Given the description of an element on the screen output the (x, y) to click on. 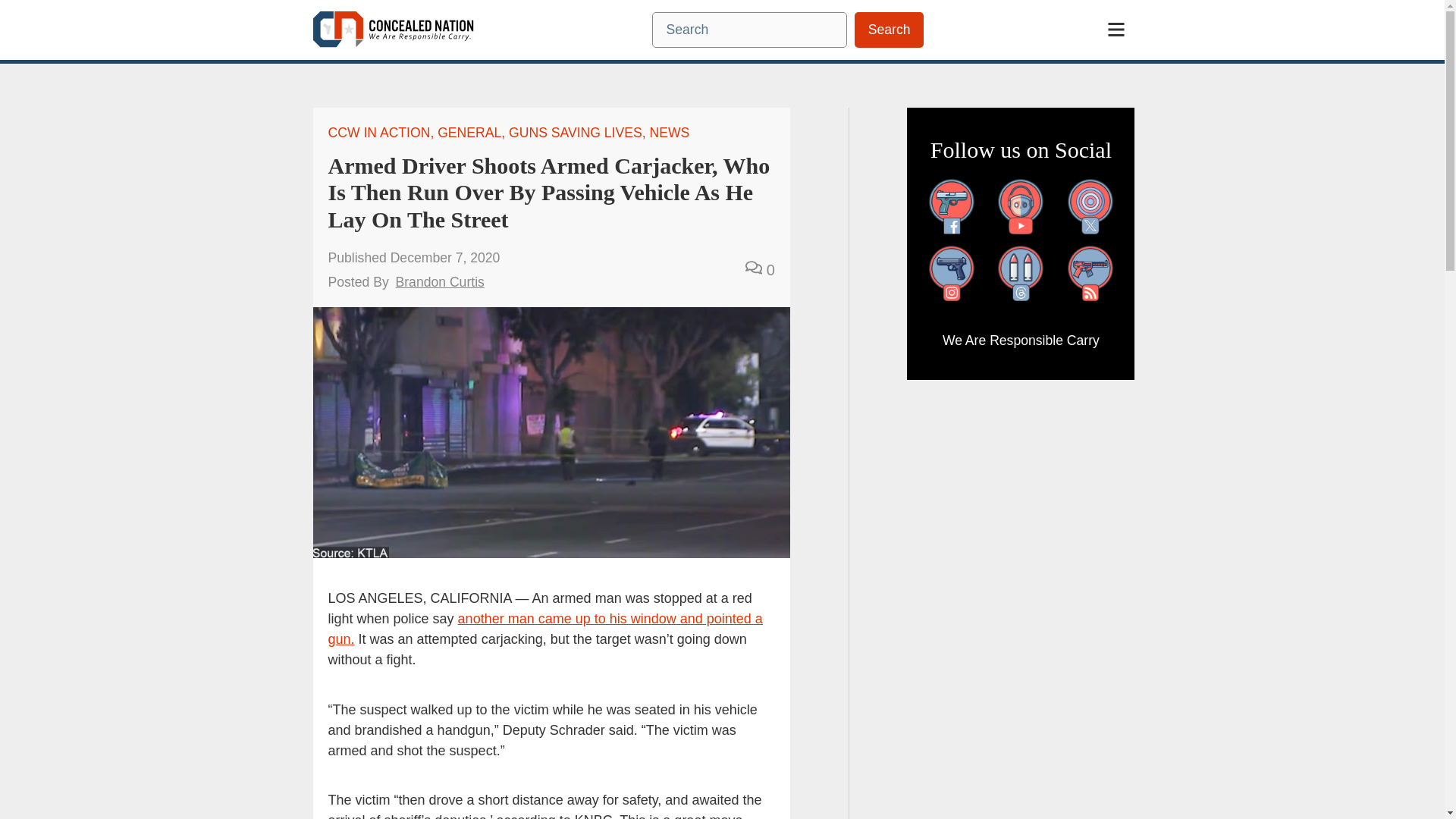
Brandon Curtis (440, 281)
GUNS SAVING LIVES (575, 132)
another man came up to his window and pointed a gun. (544, 628)
Search (888, 29)
Number of Comments (759, 269)
GENERAL (469, 132)
NEWS (668, 132)
CCW IN ACTION (378, 132)
